Given the description of an element on the screen output the (x, y) to click on. 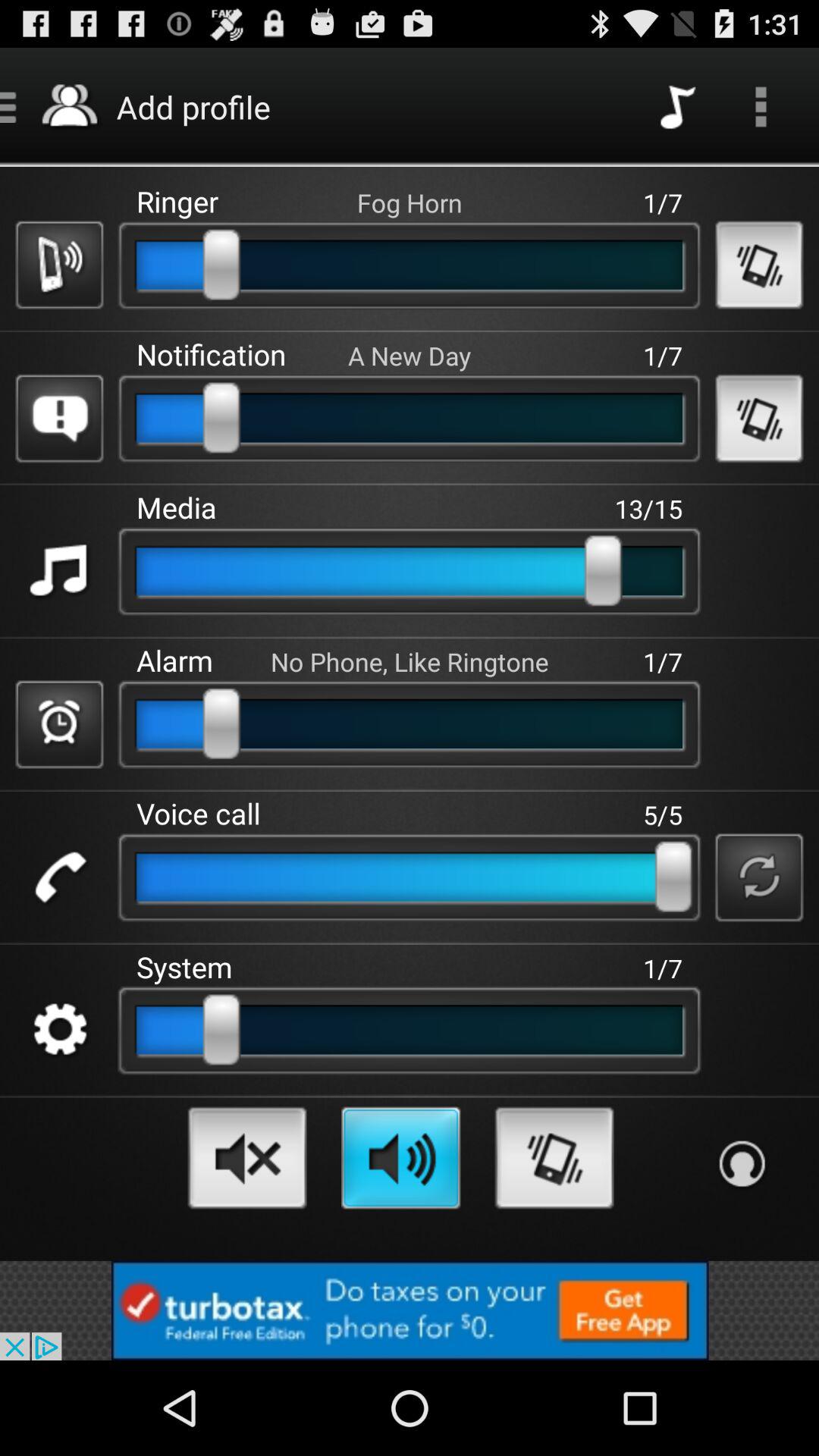
go to music (59, 571)
